Given the description of an element on the screen output the (x, y) to click on. 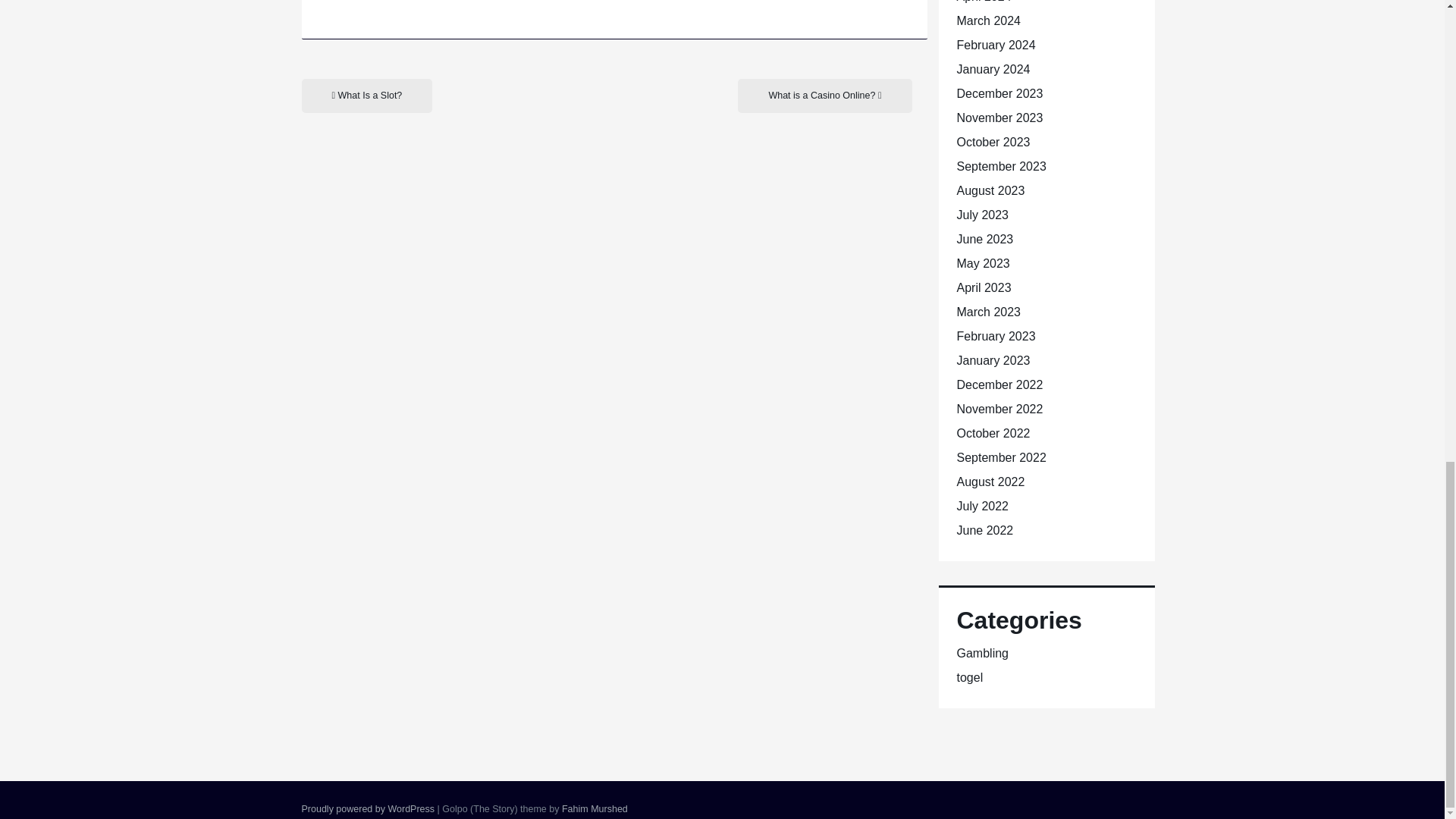
August 2023 (990, 190)
February 2023 (995, 336)
What Is a Slot? (366, 95)
October 2022 (993, 432)
What is a Casino Online? (824, 95)
May 2023 (983, 263)
April 2024 (983, 1)
April 2023 (983, 287)
June 2023 (984, 238)
November 2023 (999, 117)
